Given the description of an element on the screen output the (x, y) to click on. 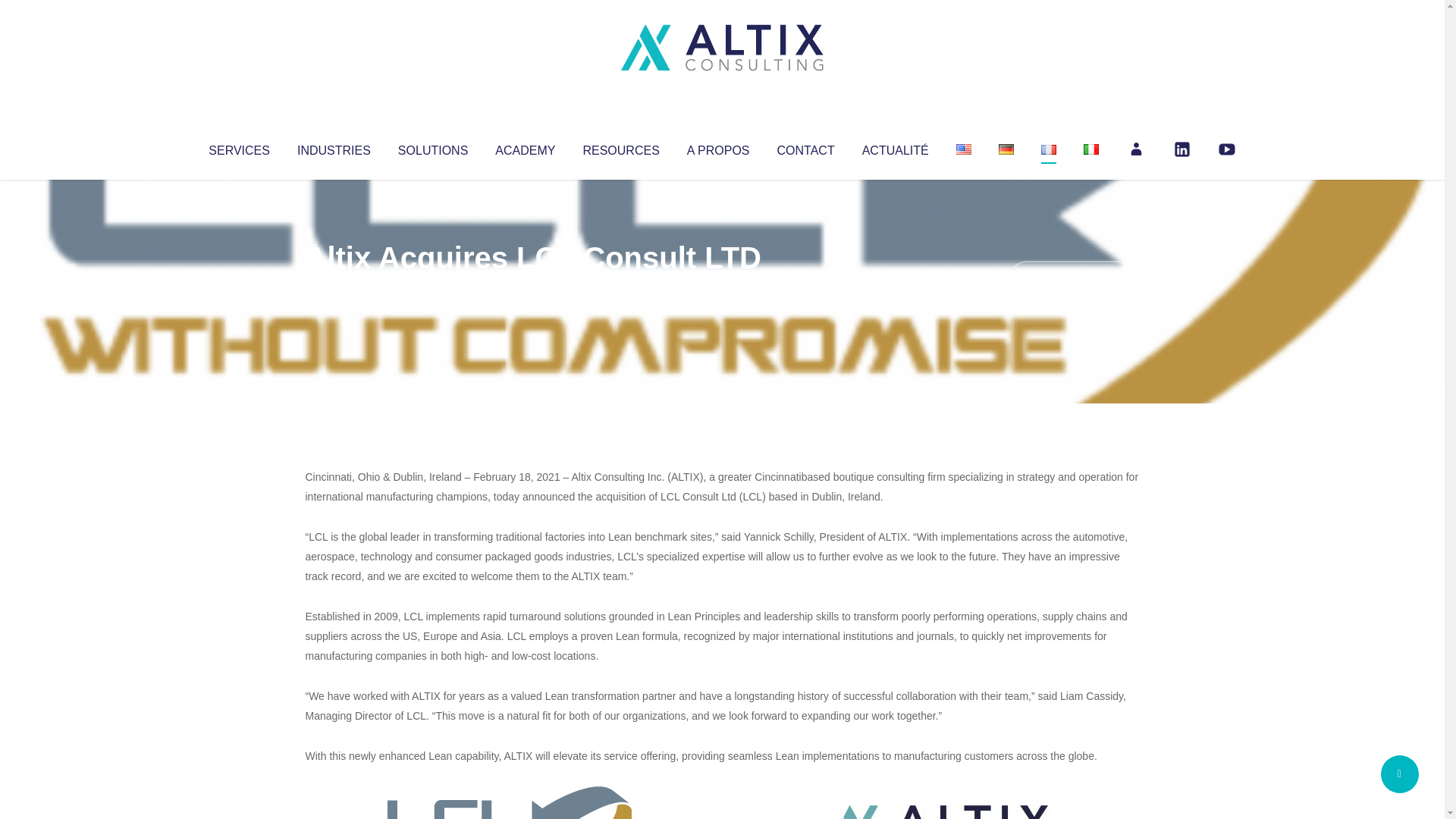
SERVICES (238, 146)
SOLUTIONS (432, 146)
No Comments (1073, 278)
Articles par Altix (333, 287)
Uncategorized (530, 287)
RESOURCES (620, 146)
A PROPOS (718, 146)
Altix (333, 287)
INDUSTRIES (334, 146)
ACADEMY (524, 146)
